Given the description of an element on the screen output the (x, y) to click on. 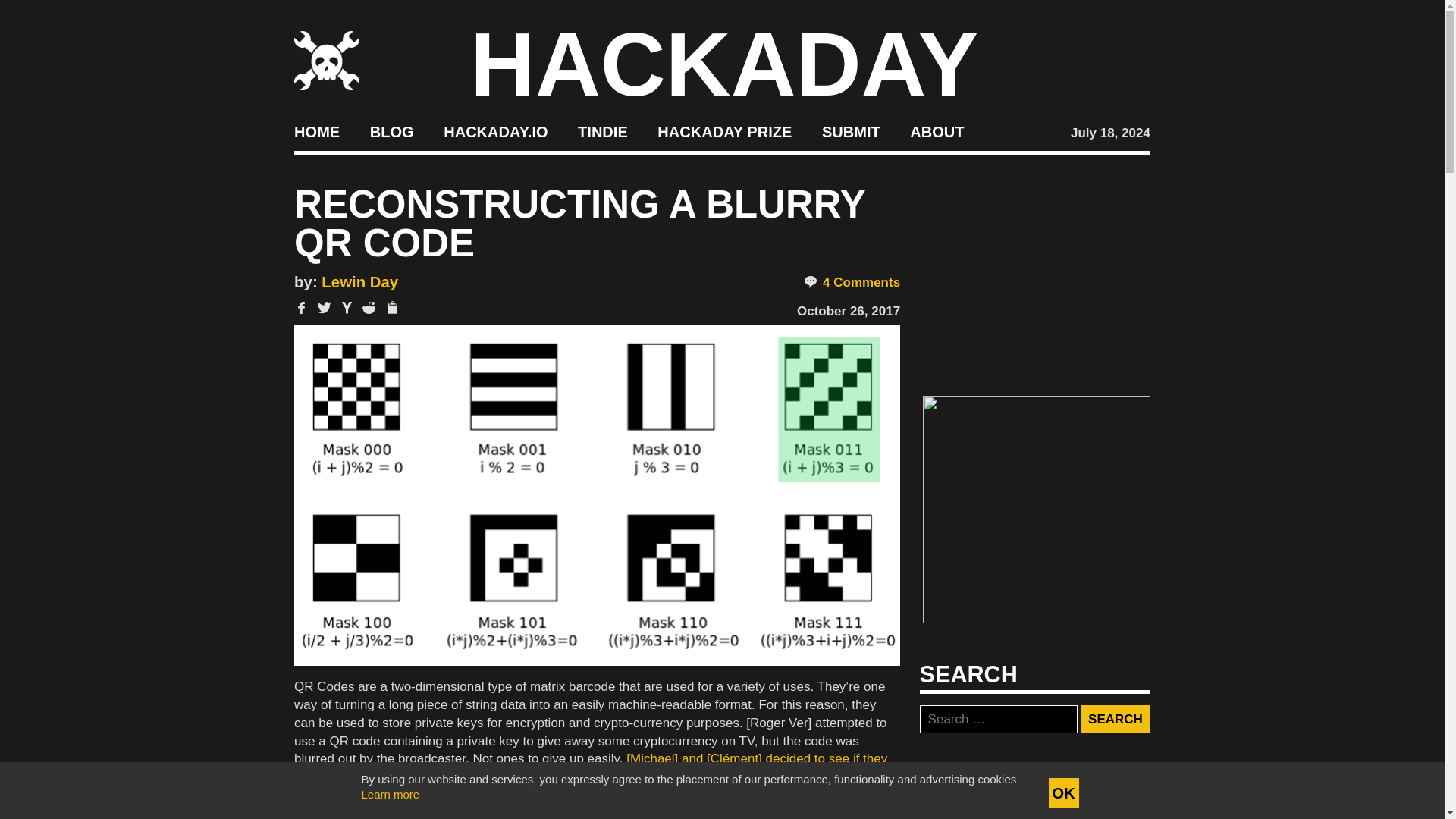
Share on Facebook (301, 307)
Copy title or shortlink (391, 308)
Share on Hacker News (347, 307)
TINDIE (602, 131)
HACKADAY PRIZE (725, 131)
HACKADAY.IO (495, 131)
Share on Twitter (324, 307)
ABOUT (936, 131)
Search (1115, 719)
October 26, 2017 - 1:00 pm (847, 310)
HACKADAY (724, 63)
HOME (316, 131)
Search (1115, 719)
SUBMIT (851, 131)
Posts by Lewin Day (359, 281)
